Given the description of an element on the screen output the (x, y) to click on. 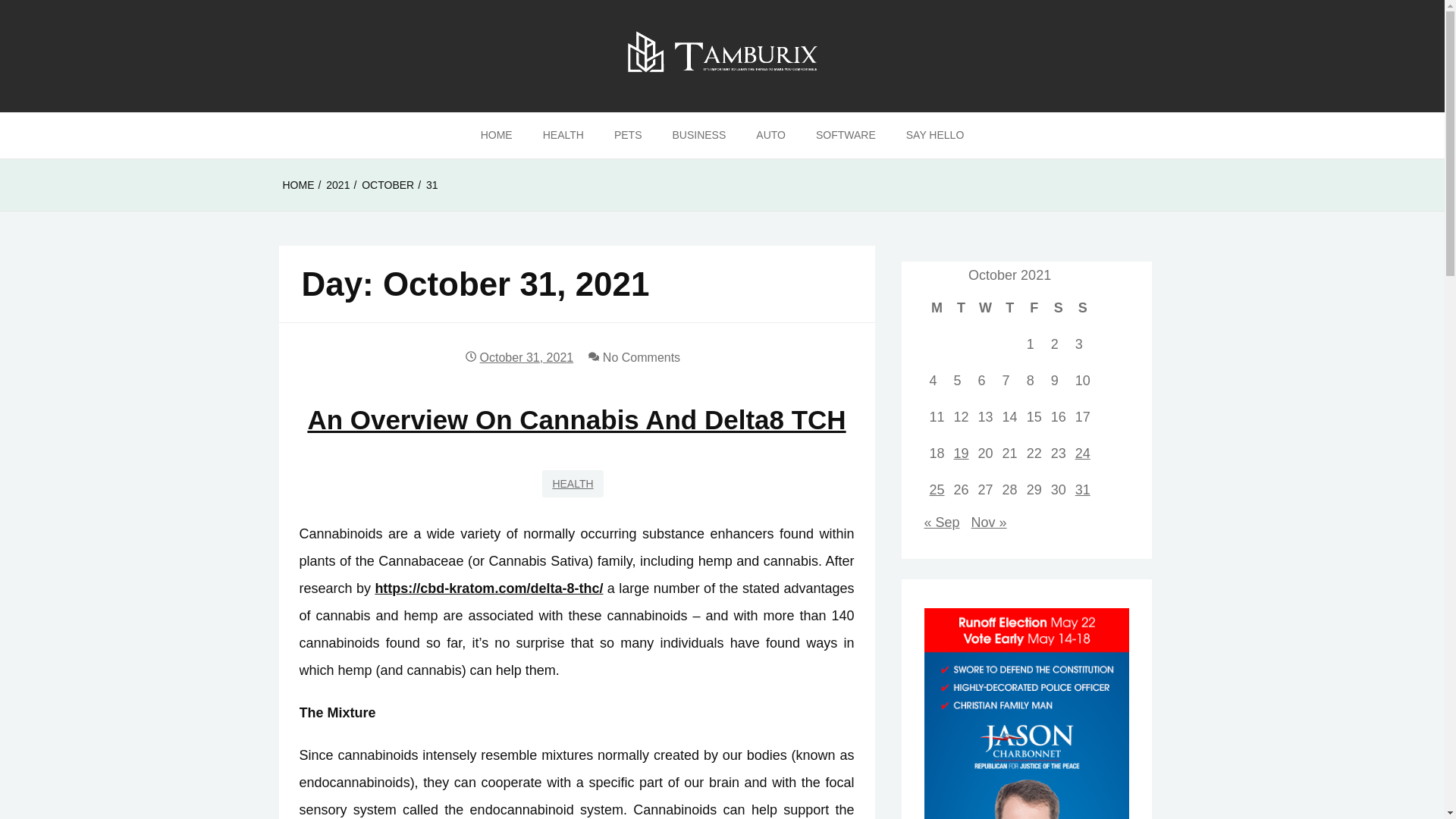
HOME (496, 135)
AUTO (770, 135)
SAY HELLO (935, 135)
SOFTWARE (845, 135)
2021 (337, 185)
PETS (628, 135)
Tamburix (73, 137)
HOME (298, 185)
OCTOBER (387, 185)
31 (432, 185)
BUSINESS (698, 135)
HEALTH (562, 135)
